Given the description of an element on the screen output the (x, y) to click on. 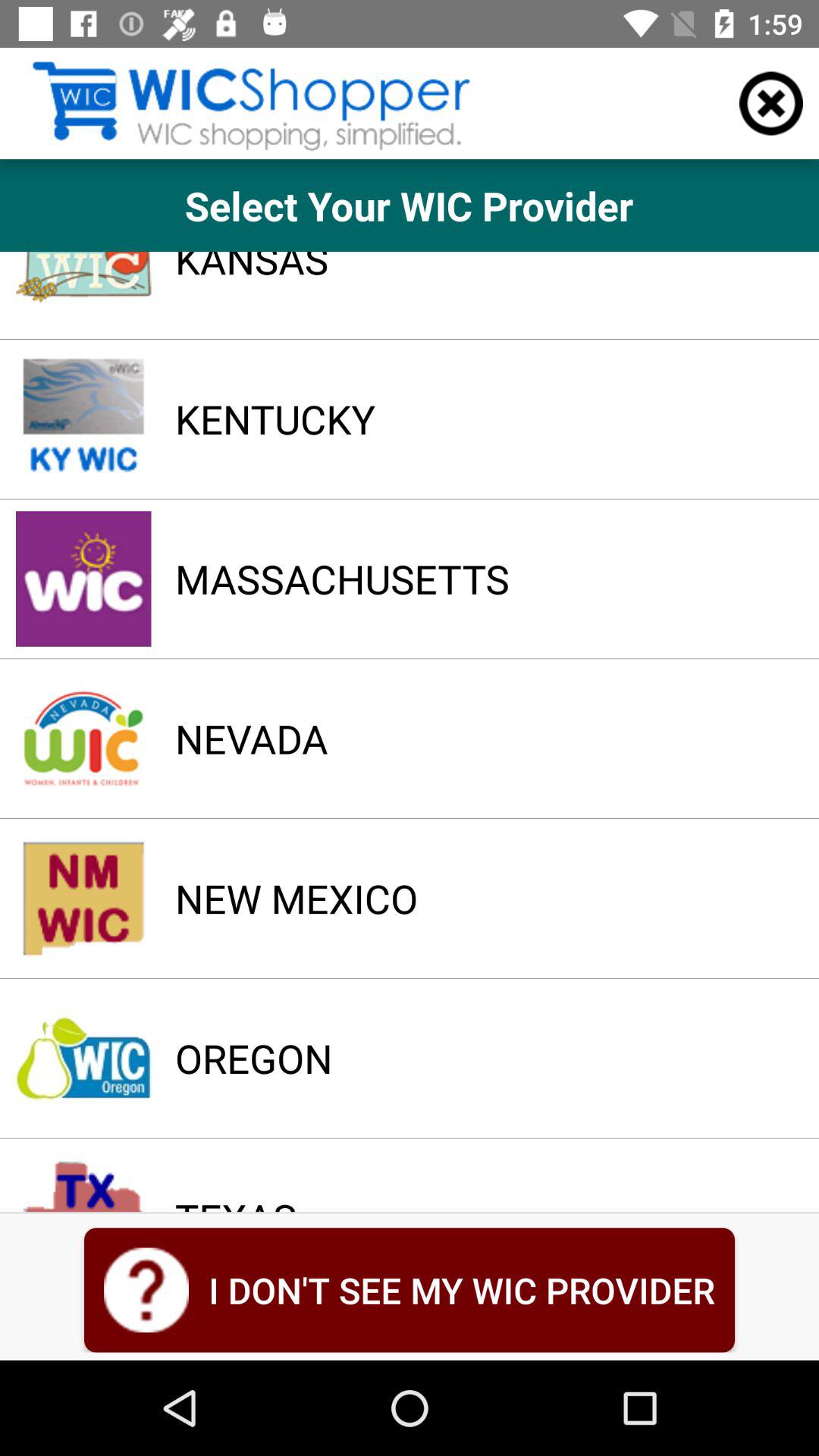
select the image beside the nevada (83, 738)
select the image which is beside the kentucky (83, 418)
